Given the description of an element on the screen output the (x, y) to click on. 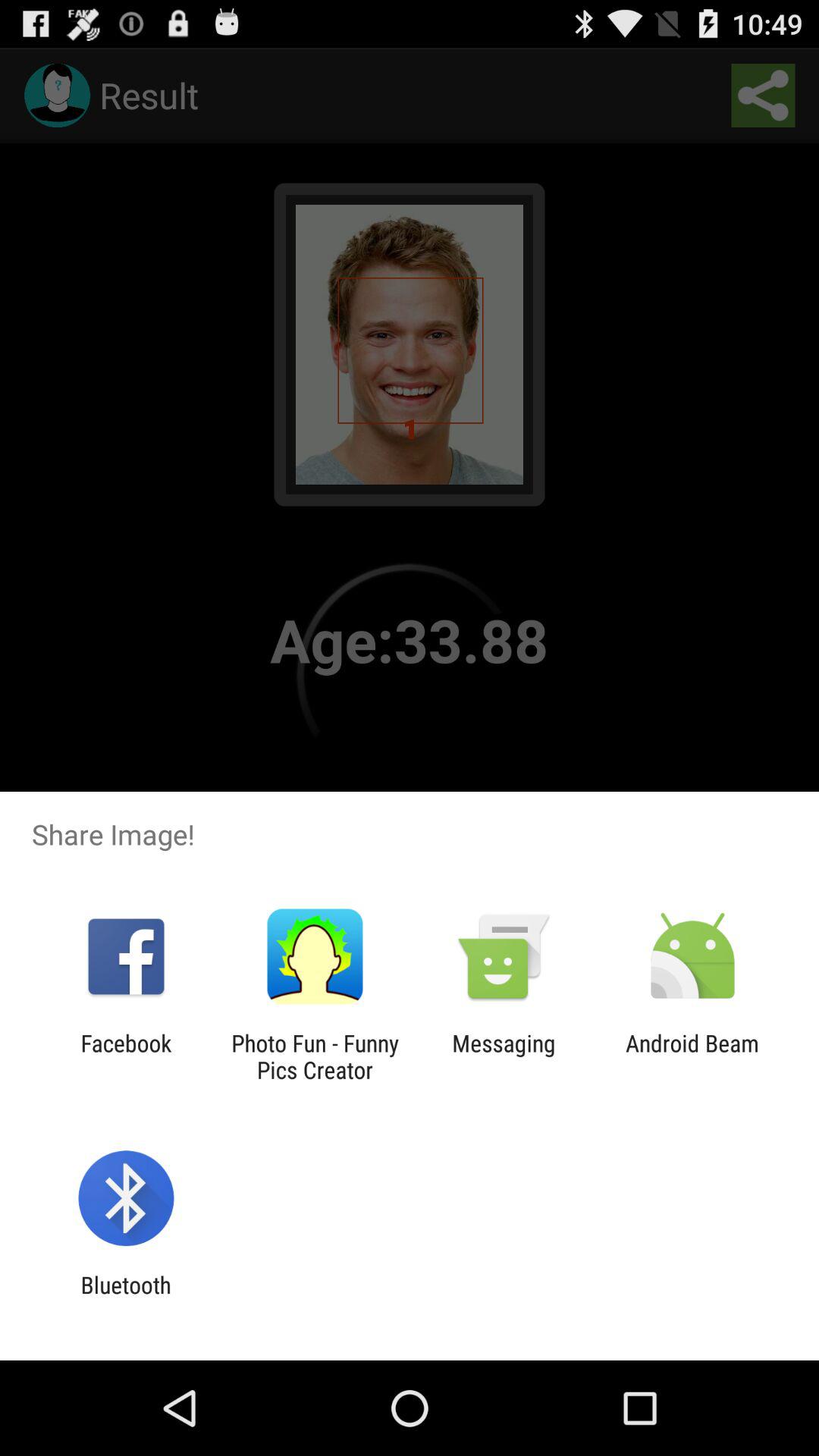
flip until the messaging icon (503, 1056)
